Given the description of an element on the screen output the (x, y) to click on. 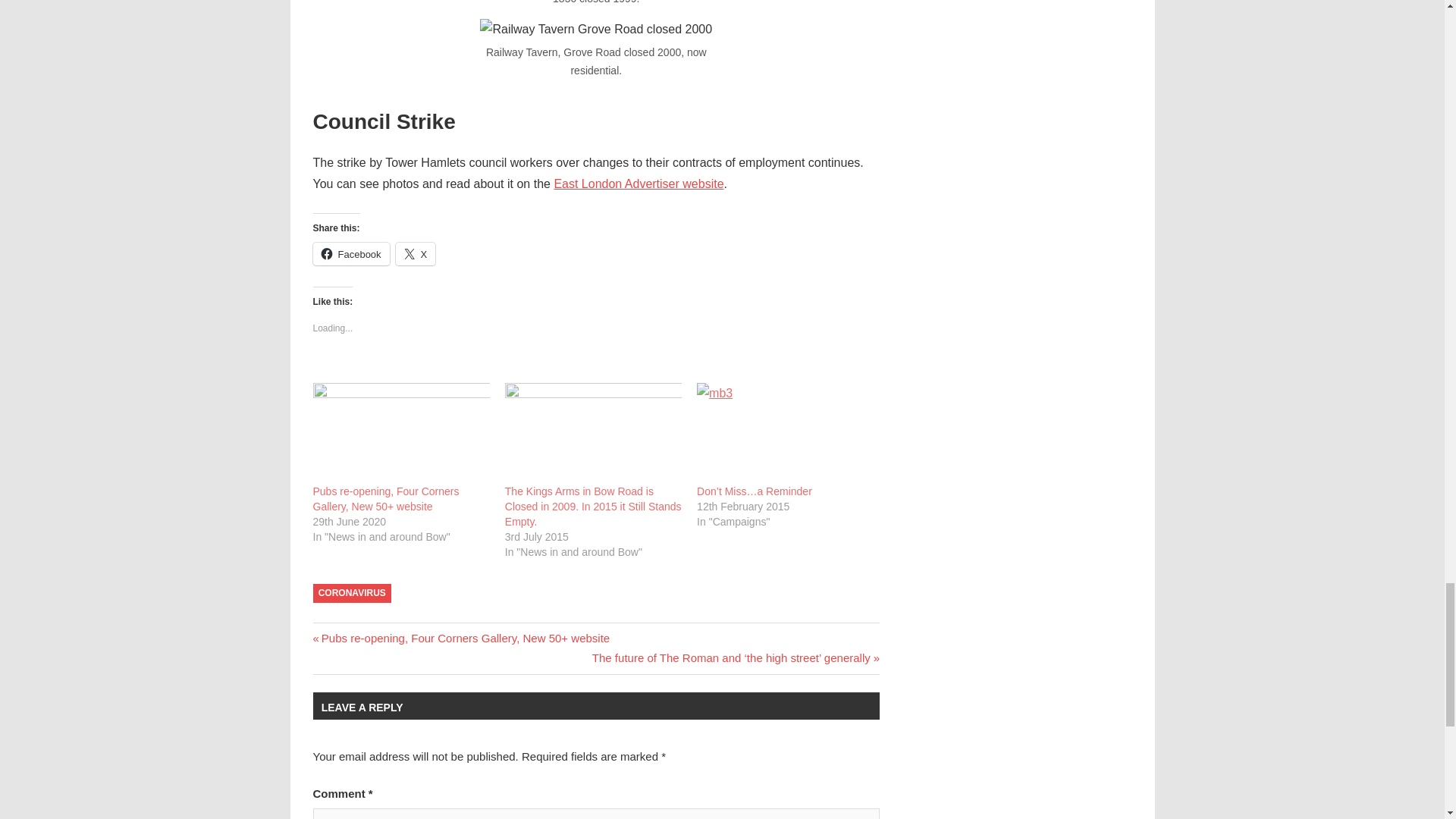
East London Advertiser website (638, 183)
Facebook (350, 253)
CORONAVIRUS (352, 592)
X (415, 253)
Click to share on X (415, 253)
Click to share on Facebook (350, 253)
